Given the description of an element on the screen output the (x, y) to click on. 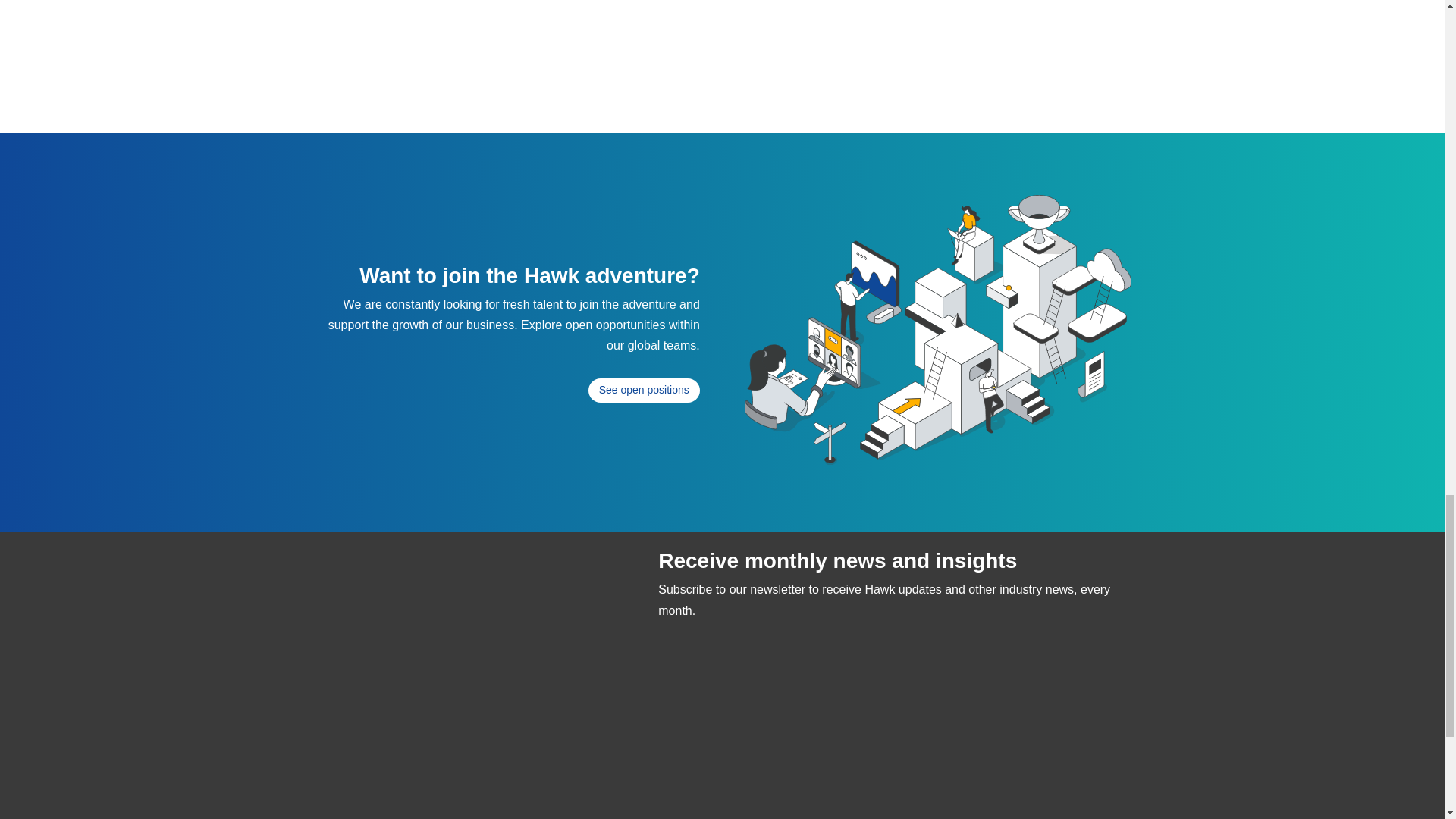
See open positions (644, 390)
